Given the description of an element on the screen output the (x, y) to click on. 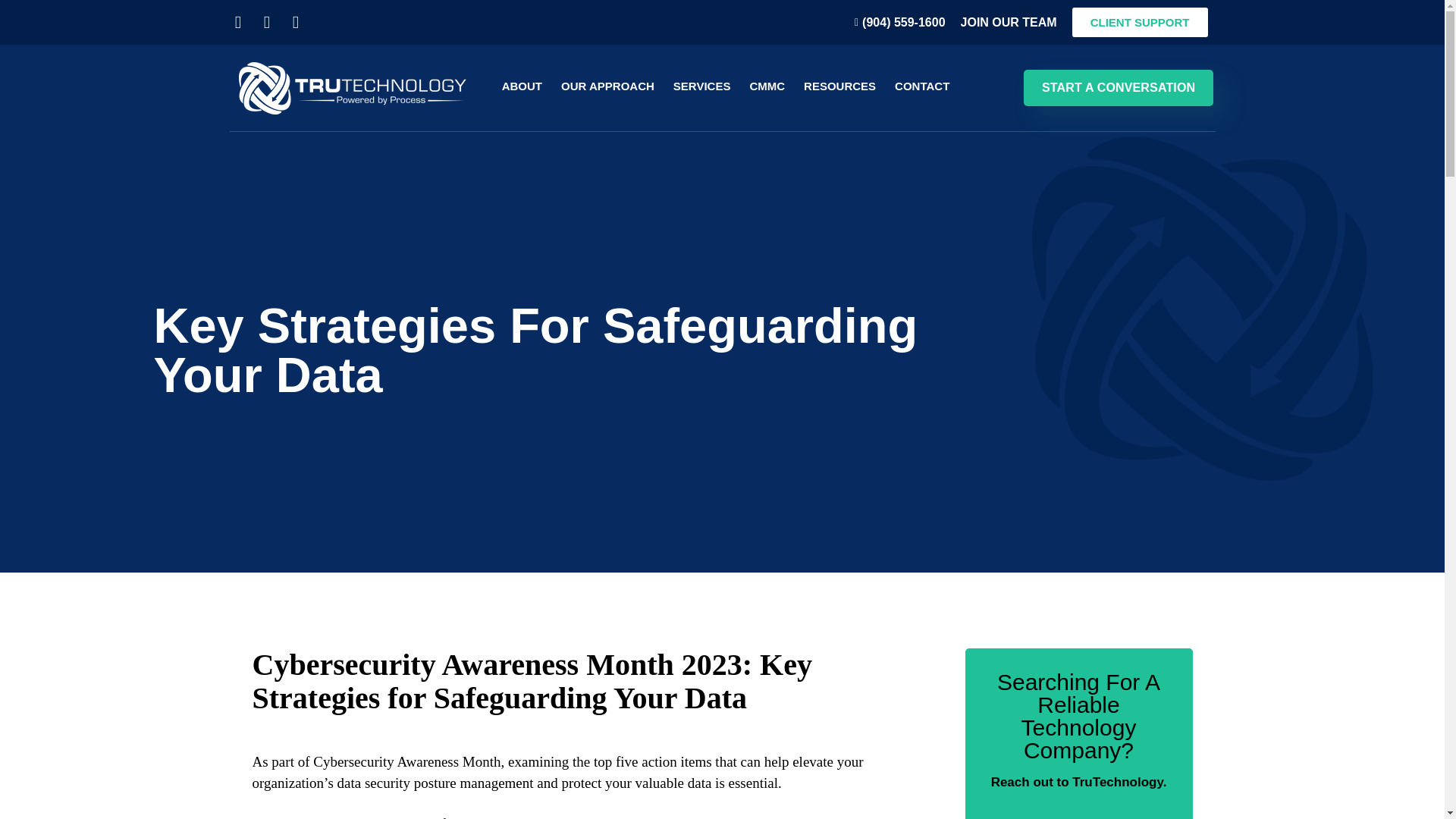
Contact (921, 85)
ABOUT (522, 85)
CMMC (766, 85)
CLIENT SUPPORT (1139, 21)
CONTACT (921, 85)
SERVICES (701, 85)
JOIN OUR TEAM (1008, 21)
OUR APPROACH (607, 85)
RESOURCES (839, 85)
Services (701, 85)
